Given the description of an element on the screen output the (x, y) to click on. 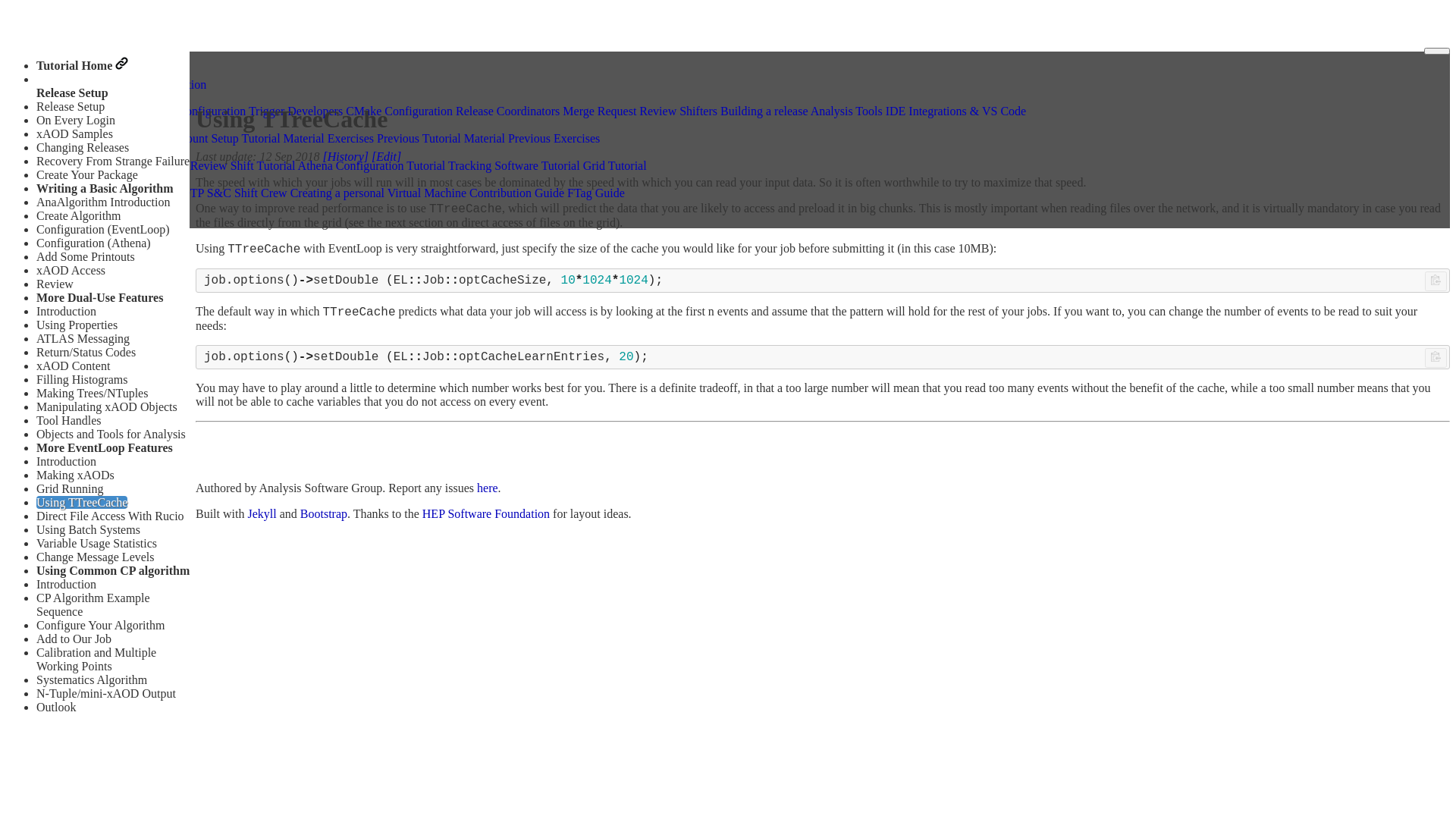
Account Setup Element type: text (202, 137)
xAOD Content Element type: text (72, 365)
Grid Tutorial Element type: text (614, 165)
Contribution Guide Element type: text (516, 192)
OTP S&C Shift Crew Element type: text (233, 192)
Previous Tutorial Material Element type: text (440, 137)
N-Tuple/mini-xAOD Output Element type: text (105, 693)
Other Tutorials Element type: text (80, 151)
Configuration (EventLoop) Element type: text (102, 228)
Calibration and Multiple Working Points Element type: text (96, 659)
Merge Review Shift Tutorial Element type: text (224, 165)
Configure Your Algorithm Element type: text (100, 624)
Jekyll Element type: text (261, 513)
Tool Handles Element type: text (68, 420)
Using Properties Element type: text (76, 324)
Configuration (Athena) Element type: text (93, 242)
Changing Releases Element type: text (82, 147)
Objects and Tools for Analysis Element type: text (110, 433)
CP Algorithm Example Sequence Element type: text (93, 604)
FTag Guide Element type: text (595, 192)
Release Setup Element type: text (70, 106)
Introduction Element type: text (66, 583)
Trigger Developers Element type: text (295, 110)
Computing Twiki [Internal] Element type: text (110, 192)
Fundamentals Element type: text (130, 137)
Direct File Access With Rucio Element type: text (110, 515)
here Element type: text (487, 487)
Previous Exercises Element type: text (553, 137)
Manipulating xAOD Objects Element type: text (106, 406)
ATLAS Messaging Element type: text (82, 338)
Grid Running Element type: text (69, 488)
Making xAODs Element type: text (75, 474)
Bootstrap Element type: text (323, 513)
Tutorial Material Element type: text (282, 137)
Creating a personal Virtual Machine Element type: text (378, 192)
Making Trees/NTuples Element type: text (91, 392)
Return/Status Codes Element type: text (85, 351)
[Edit] Element type: text (386, 156)
Merge Request Review Shifters Element type: text (639, 110)
On Every Login Element type: text (75, 119)
Release Coordinators Element type: text (507, 110)
Systematics Algorithm Element type: text (91, 679)
Exercises Element type: text (350, 137)
ATLAS Software Documentation Element type: text (124, 83)
xAOD Samples Element type: text (74, 133)
CMake Configuration Element type: text (398, 110)
HEP Software Foundation Element type: text (485, 513)
Athena Configuration Tutorial Element type: text (371, 165)
Filling Histograms Element type: text (81, 379)
Building a release Element type: text (764, 110)
Recovery From Strange Failures Element type: text (115, 160)
Review Element type: text (54, 283)
Add Some Printouts Element type: text (85, 256)
Introduction Element type: text (66, 461)
Links Element type: text (57, 178)
Using TTreeCache Element type: text (81, 501)
Using Batch Systems Element type: text (88, 529)
Guides Element type: text (60, 96)
Create Your Package Element type: text (87, 174)
Git Workflow Tutorial Element type: text (97, 165)
IDE Integrations & VS Code Element type: text (955, 110)
Athena Configuration Element type: text (192, 110)
[History] Element type: text (345, 156)
Add to Our Job Element type: text (73, 638)
Tracking Software Tutorial Element type: text (514, 165)
Change Message Levels Element type: text (95, 556)
Tutorial Home Element type: text (82, 65)
Introduction Element type: text (66, 310)
Analysis SW Tutorial Element type: text (95, 124)
Outlook Element type: text (55, 706)
Variable Usage Statistics Element type: text (96, 542)
xAOD Access Element type: text (70, 269)
Analysis Tools Element type: text (846, 110)
Athena Developers Element type: text (90, 110)
Create Algorithm Element type: text (78, 215)
AnaAlgorithm Introduction Element type: text (102, 201)
Start Page Element type: text (68, 137)
